Given the description of an element on the screen output the (x, y) to click on. 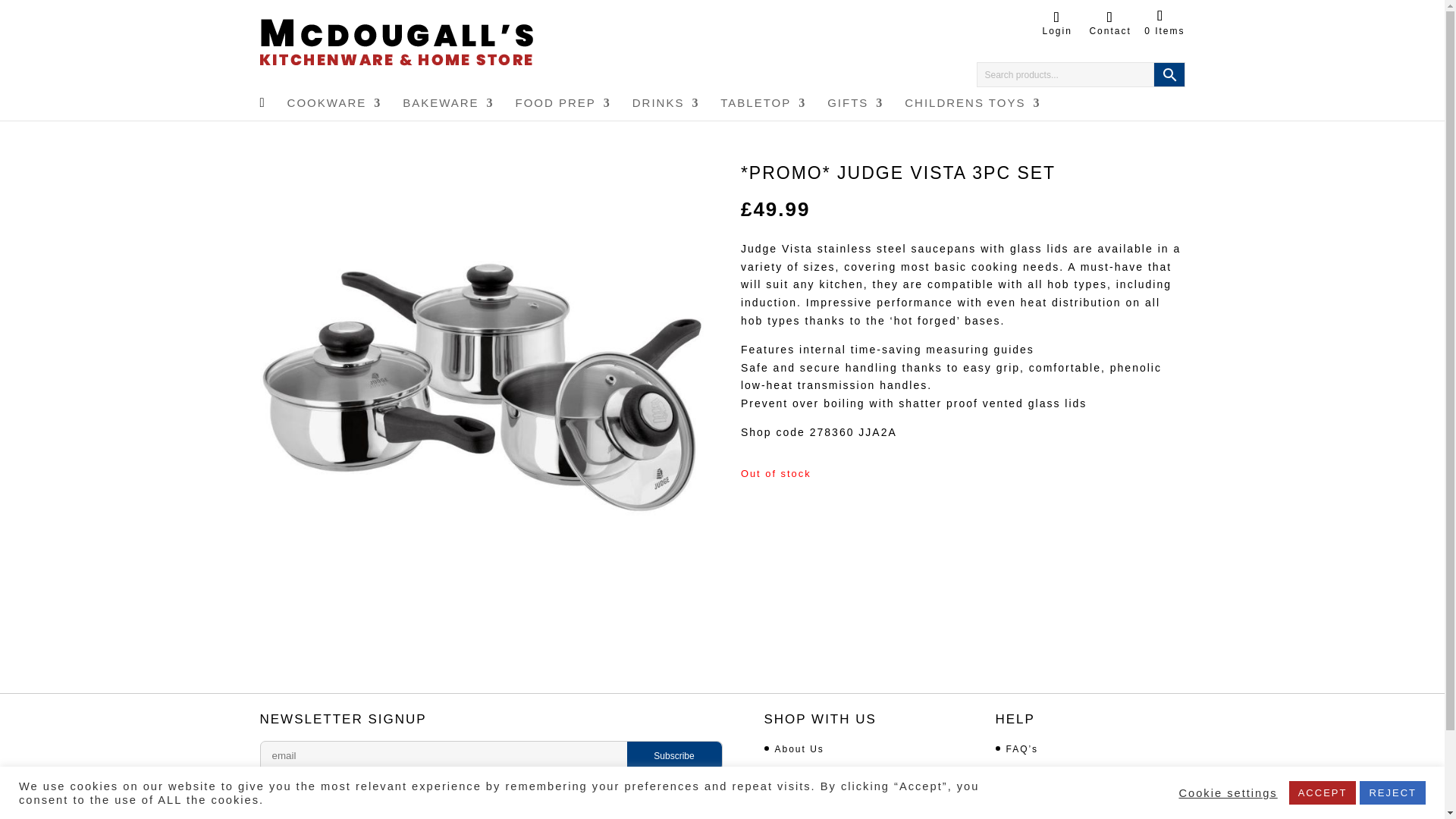
0 Items (1164, 24)
true (264, 787)
Subscribe (673, 756)
